Given the description of an element on the screen output the (x, y) to click on. 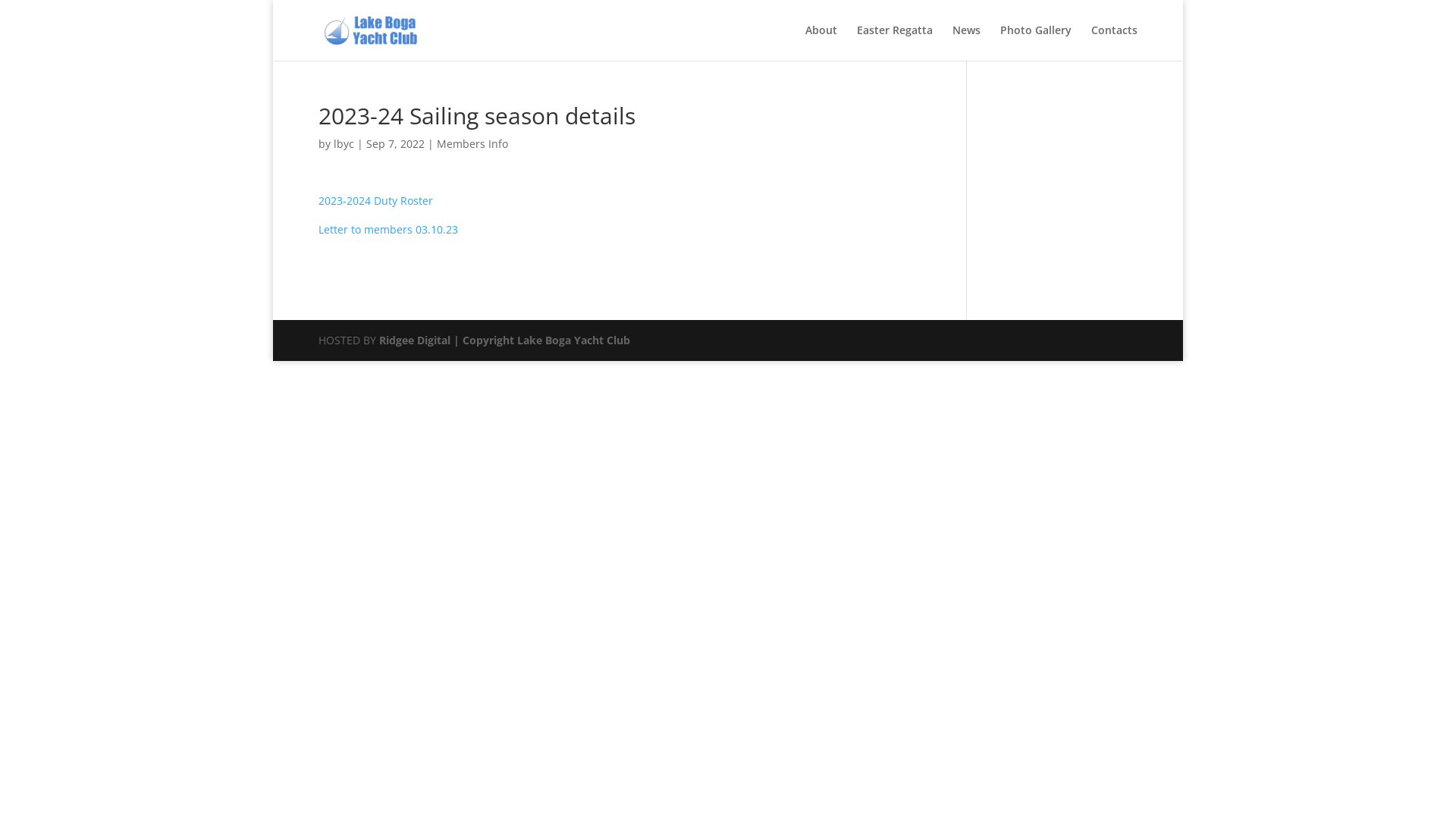
Easter Regatta Element type: text (894, 42)
Ridgee Digital | Copyright Lake Boga Yacht Club Element type: text (504, 339)
News Element type: text (966, 42)
2023-2024 Duty Roster Element type: text (375, 200)
Contacts Element type: text (1114, 42)
About Element type: text (821, 42)
Letter to members 03.10.23 Element type: text (388, 229)
Photo Gallery Element type: text (1035, 42)
Members Info Element type: text (472, 143)
lbyc Element type: text (343, 143)
